Given the description of an element on the screen output the (x, y) to click on. 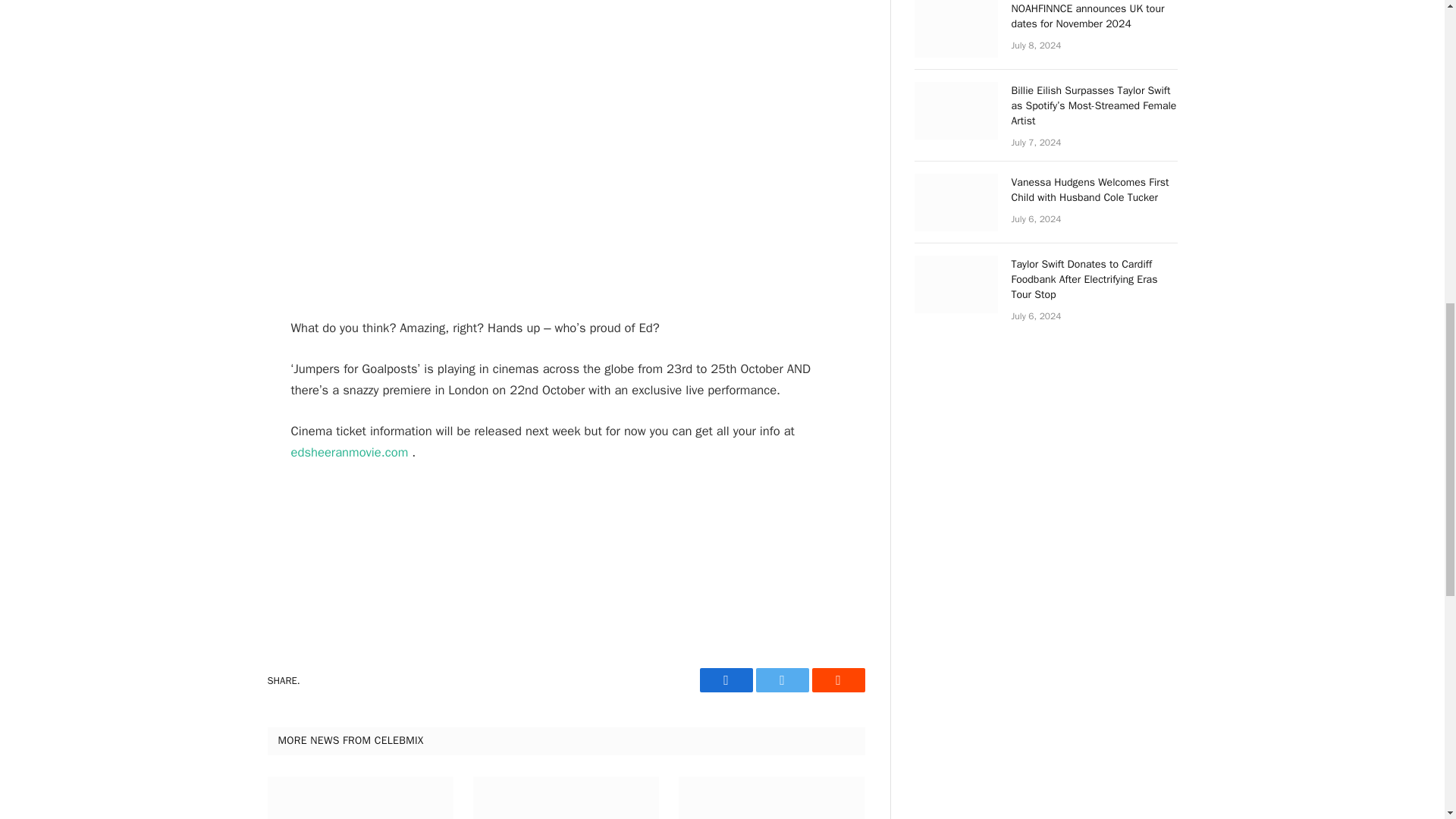
Twitter (781, 680)
edsheeranmovie.com (350, 452)
Share on Facebook (725, 680)
Facebook (725, 680)
Reddit (837, 680)
